Given the description of an element on the screen output the (x, y) to click on. 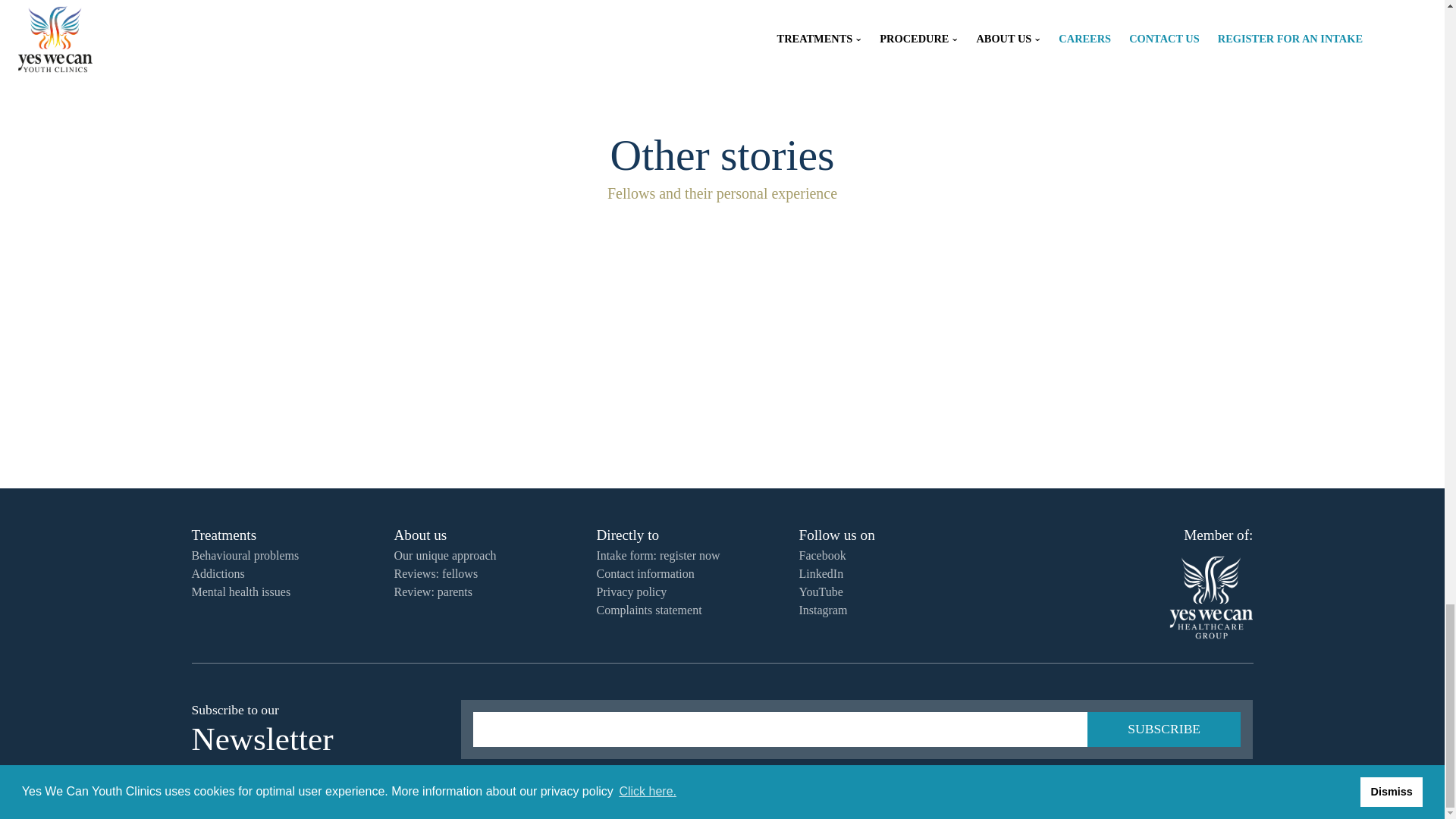
Subscribe (1163, 728)
